Given the description of an element on the screen output the (x, y) to click on. 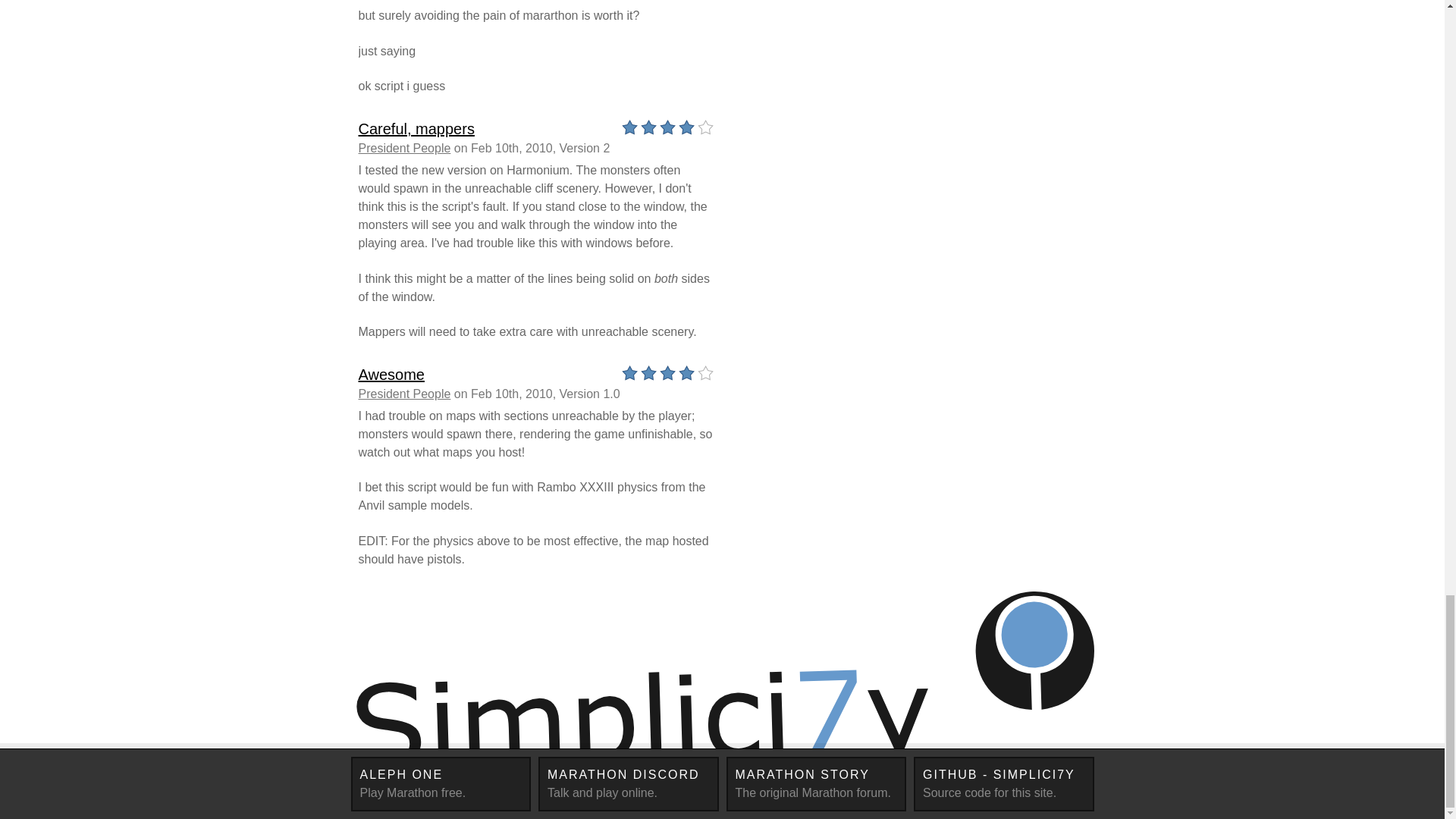
Awesome (390, 374)
President People (816, 783)
Careful, mappers (628, 783)
President People (403, 393)
